Given the description of an element on the screen output the (x, y) to click on. 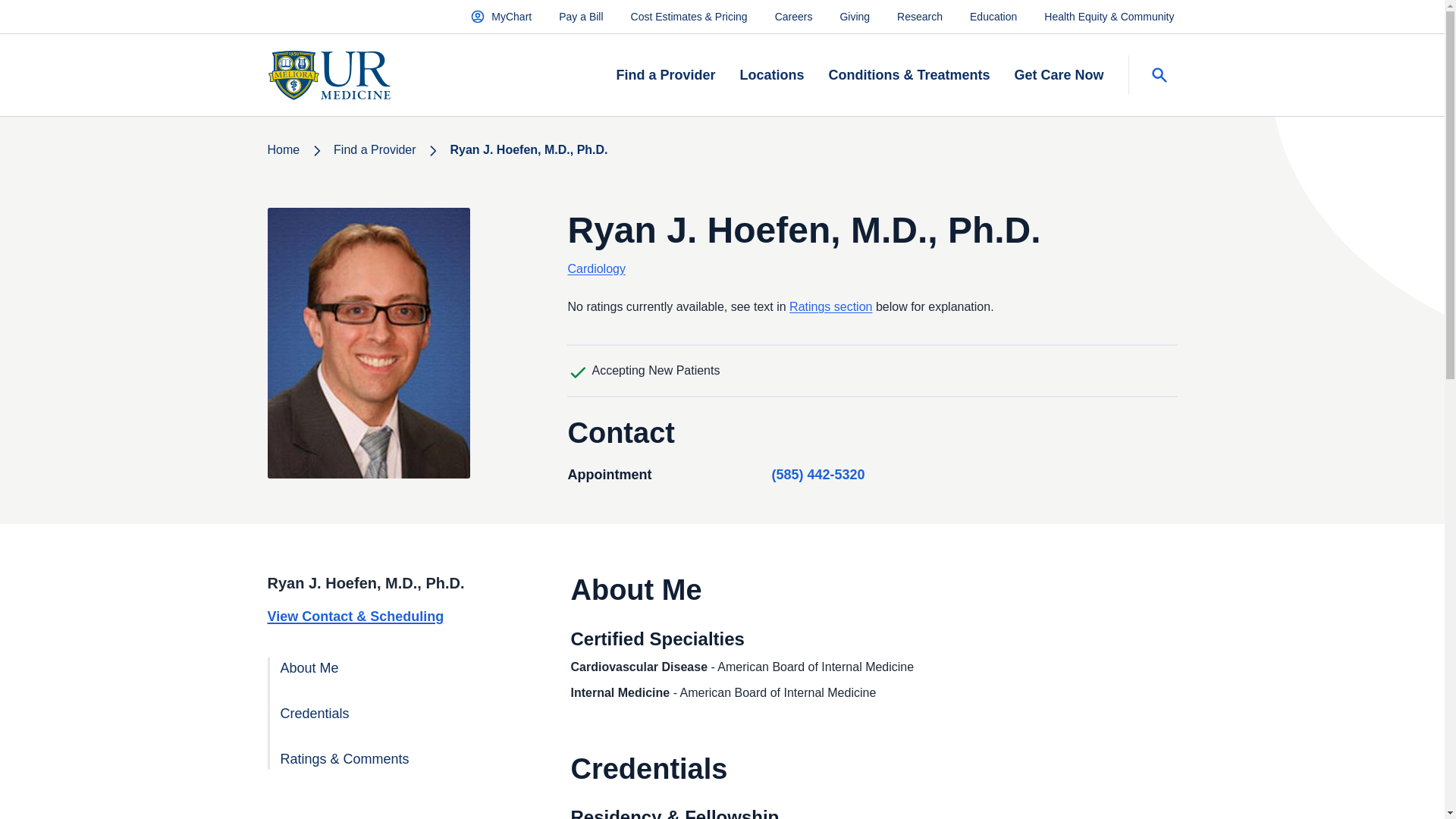
Locations (771, 76)
Find a Provider (664, 76)
Education (993, 16)
MyChart (500, 16)
Research (918, 16)
Giving (853, 16)
UR Medicine Logo Home (328, 75)
Find a Provider (374, 149)
Get Care Now (1058, 76)
